Given the description of an element on the screen output the (x, y) to click on. 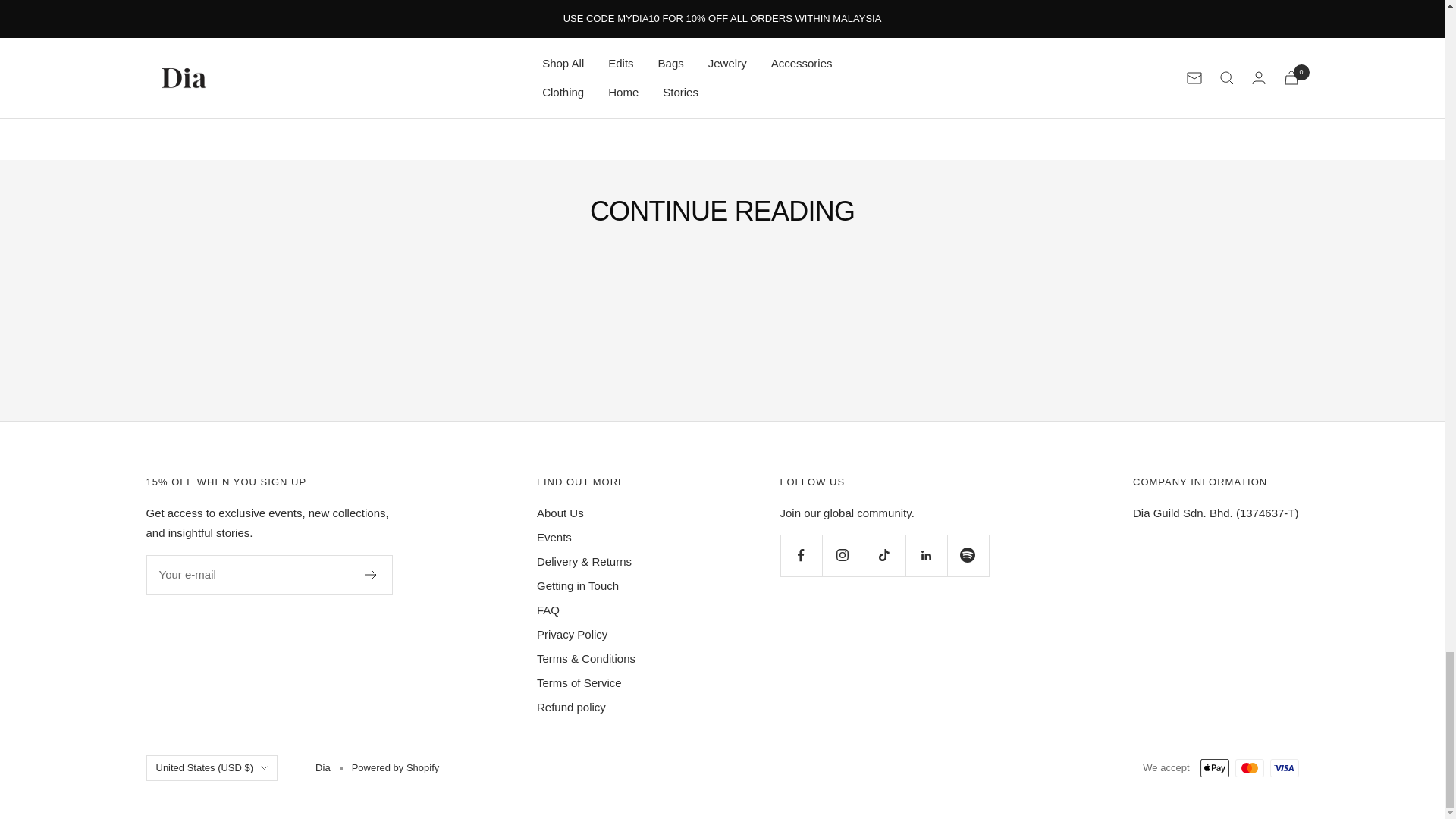
Register (370, 574)
